Given the description of an element on the screen output the (x, y) to click on. 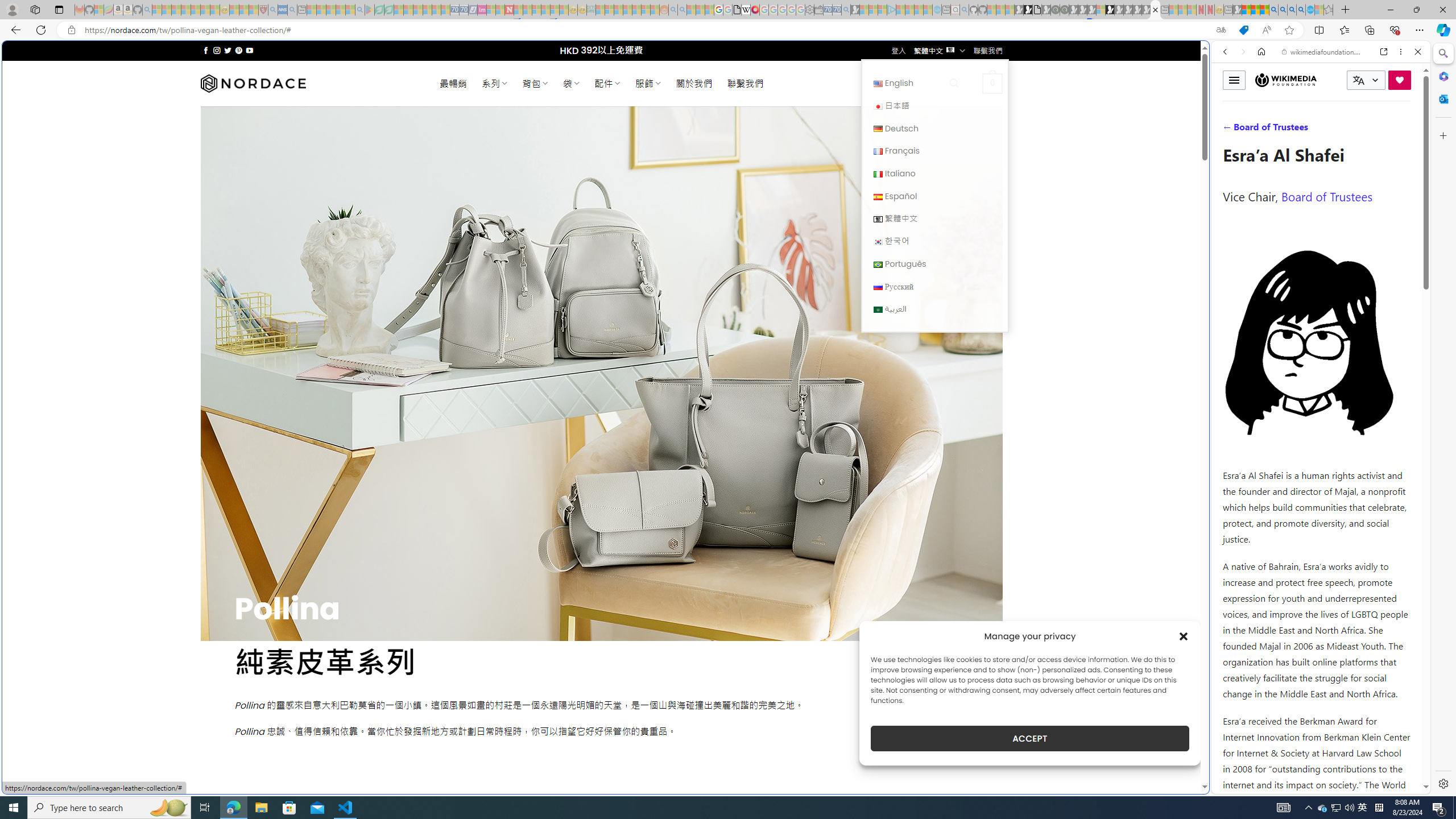
Follow on Instagram (216, 50)
